Given the description of an element on the screen output the (x, y) to click on. 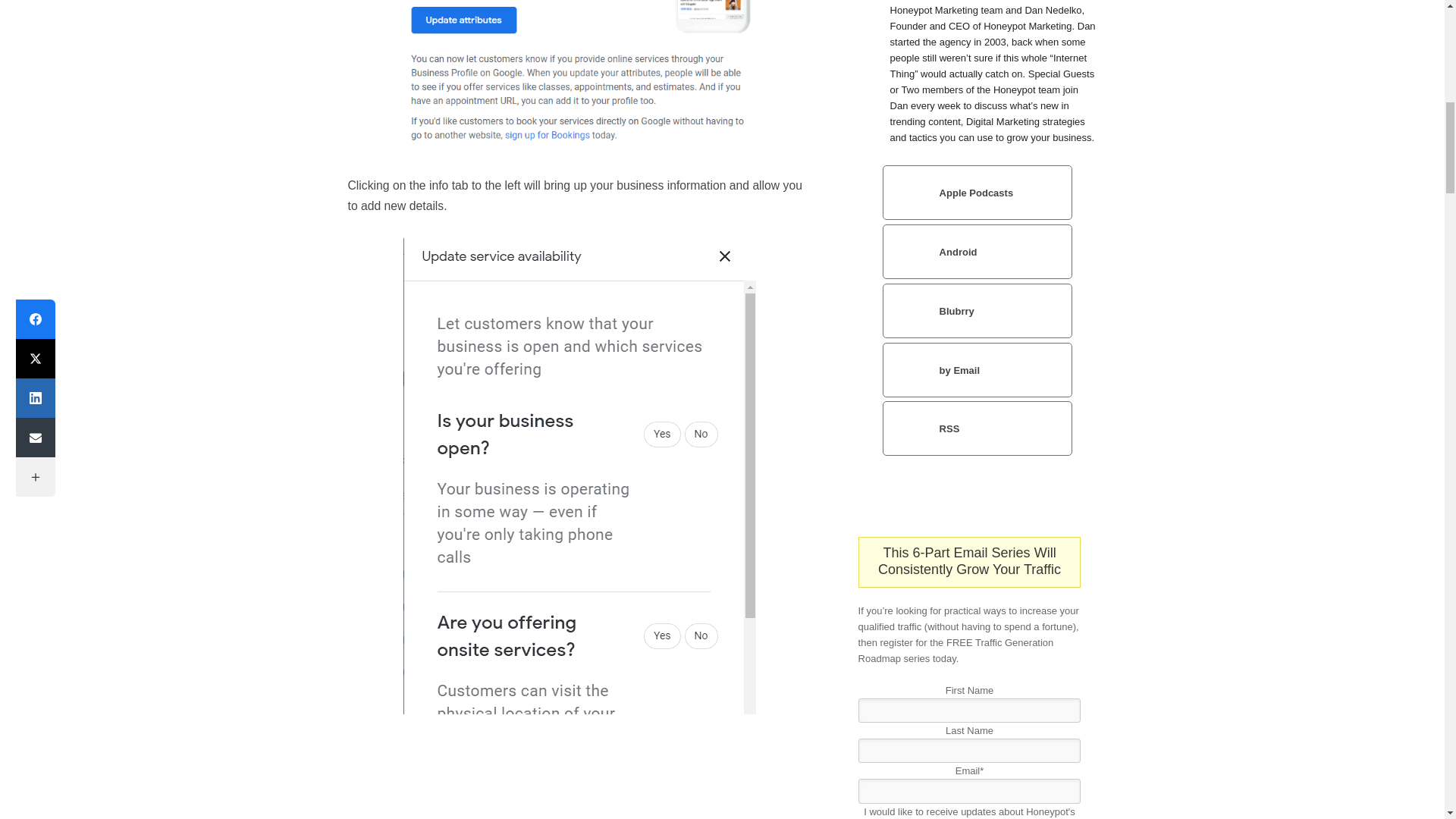
Subscribe on Android (976, 251)
Subscribe via RSS (976, 428)
Subscribe on Blubrry (976, 310)
Subscribe on Apple Podcasts (976, 192)
Subscribe by Email (976, 370)
